Given the description of an element on the screen output the (x, y) to click on. 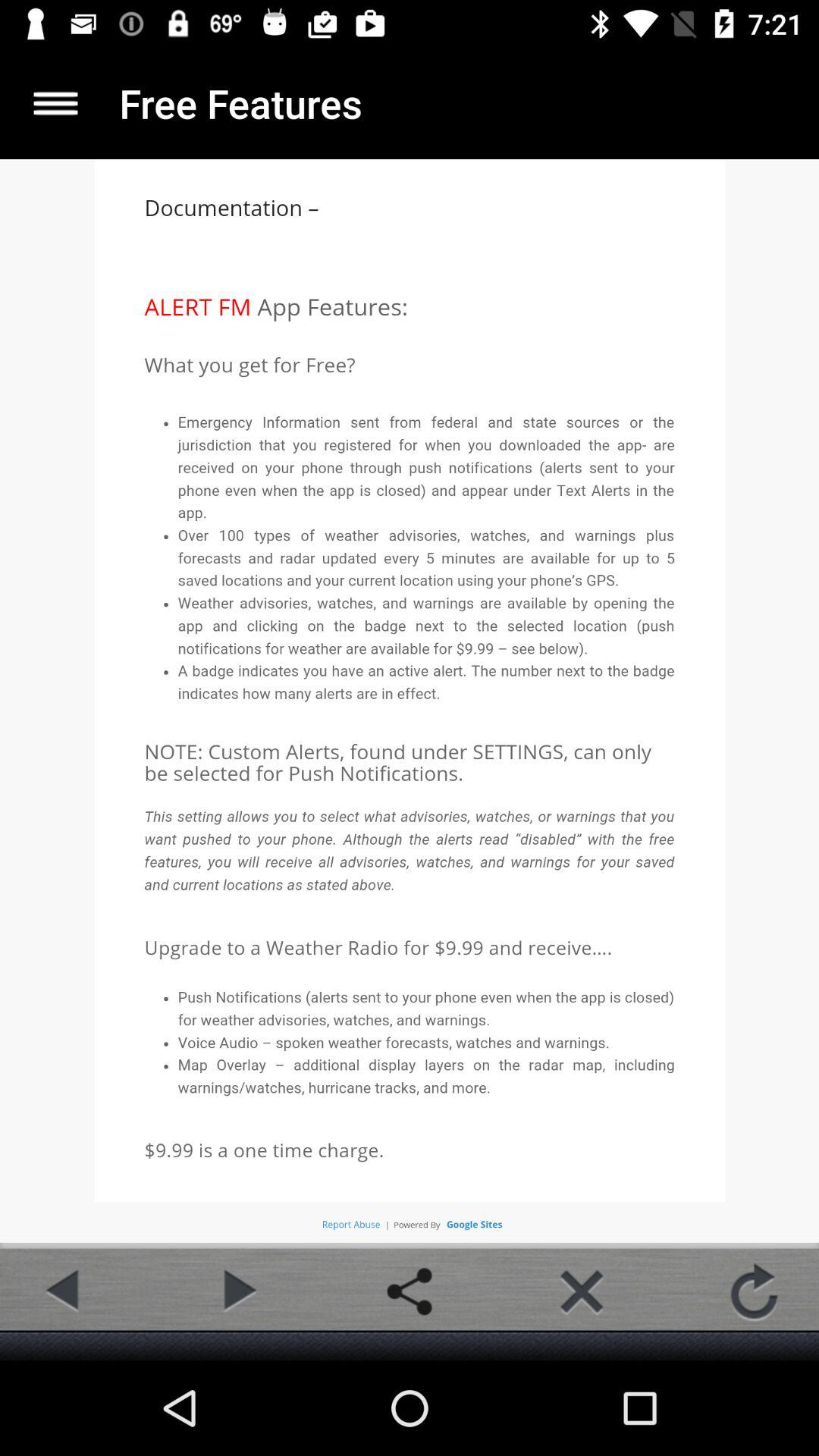
close button (581, 1291)
